Given the description of an element on the screen output the (x, y) to click on. 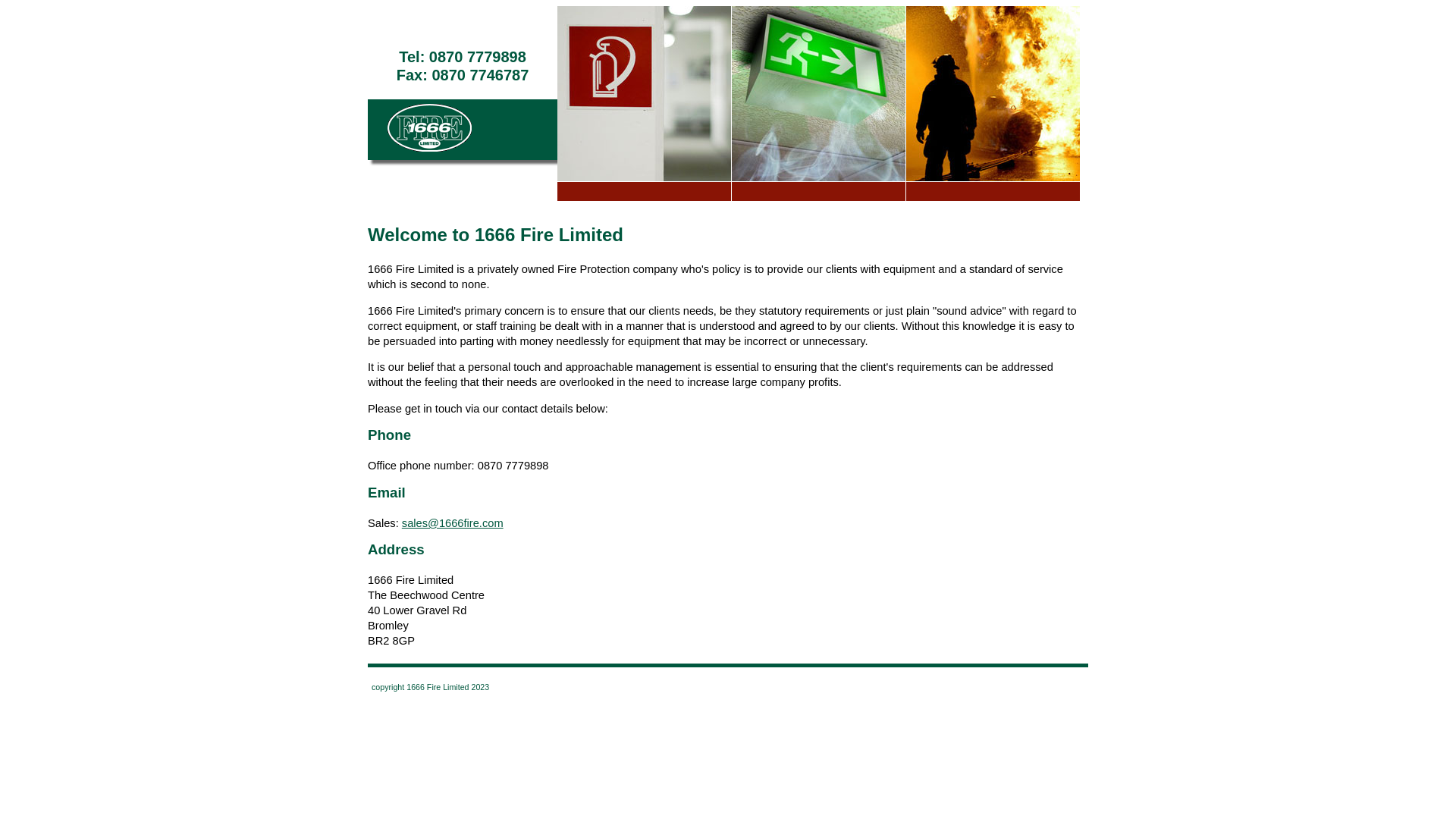
sales@1666fire.com Element type: text (452, 523)
